Given the description of an element on the screen output the (x, y) to click on. 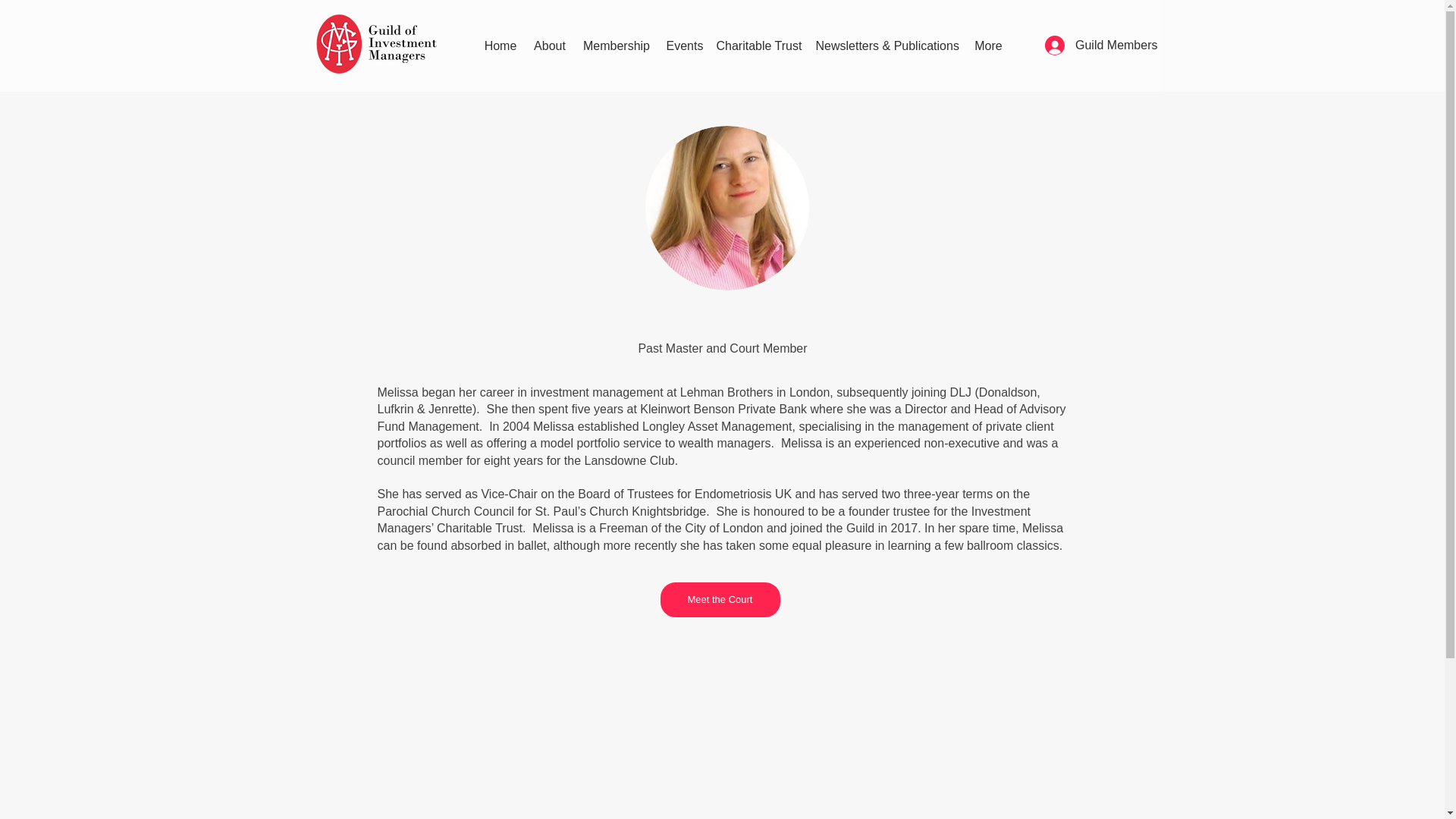
guy2.jpg (726, 208)
Home (500, 46)
Membership (617, 46)
About (548, 46)
Guild Members (1100, 45)
Events (682, 46)
Meet the Court (718, 599)
Charitable Trust (757, 46)
